Given the description of an element on the screen output the (x, y) to click on. 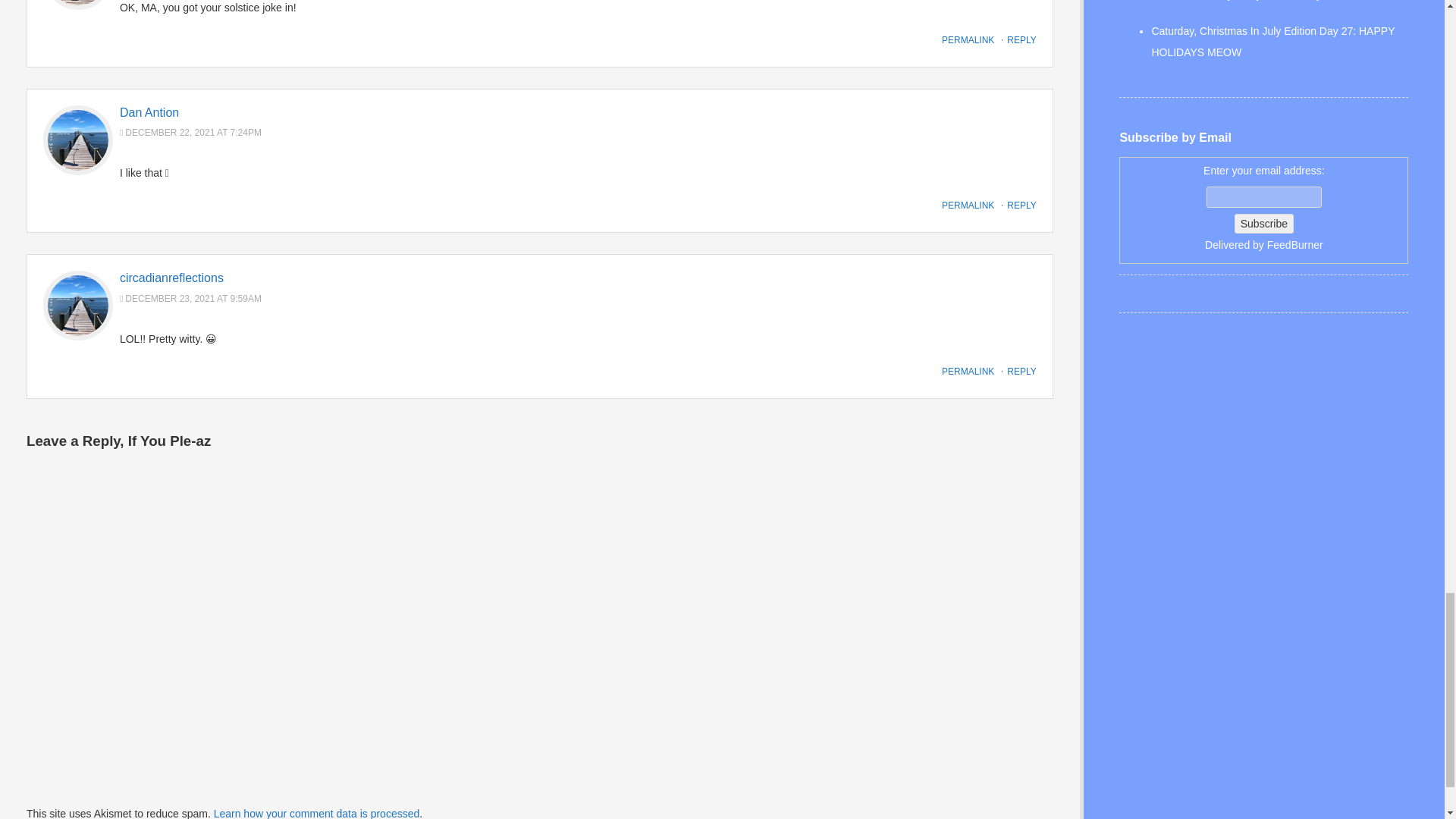
Subscribe (1264, 223)
